Given the description of an element on the screen output the (x, y) to click on. 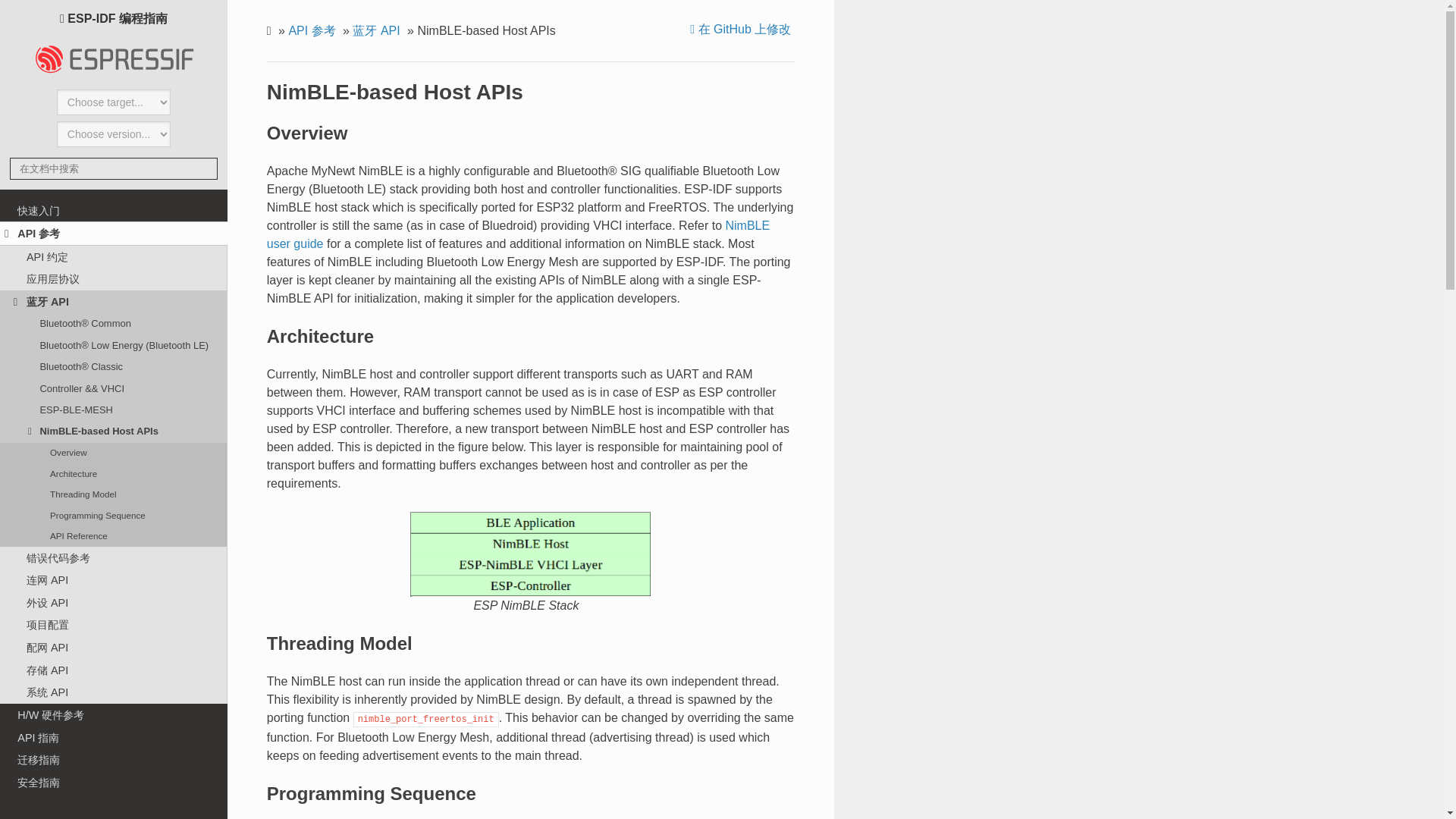
Programming Sequence (113, 515)
ESP-BLE-MESH (113, 409)
Overview (113, 453)
NimBLE-based Host APIs (113, 431)
API Reference (113, 535)
Threading Model (113, 494)
Architecture (113, 473)
